Given the description of an element on the screen output the (x, y) to click on. 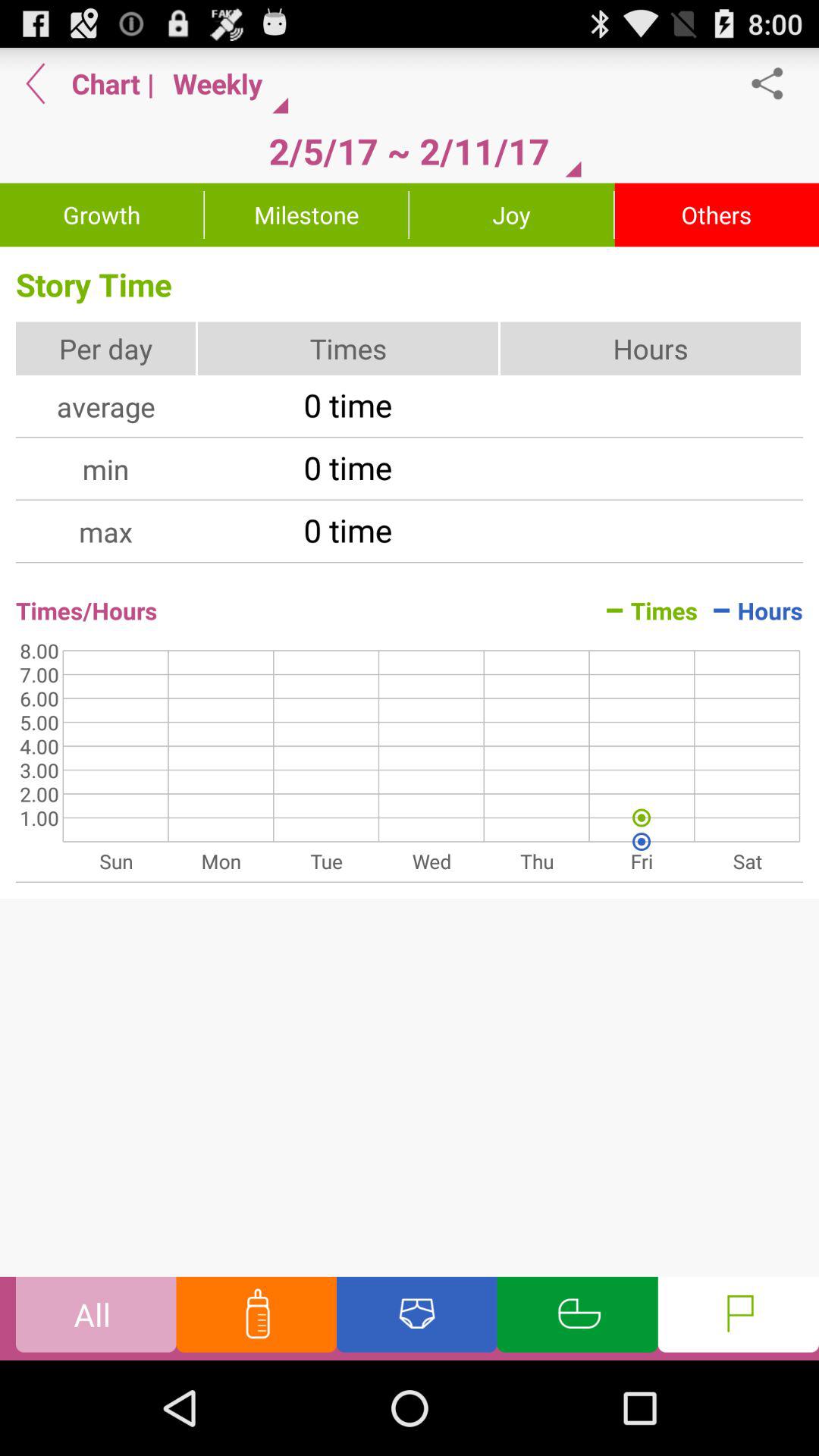
add diaper change (416, 1318)
